Given the description of an element on the screen output the (x, y) to click on. 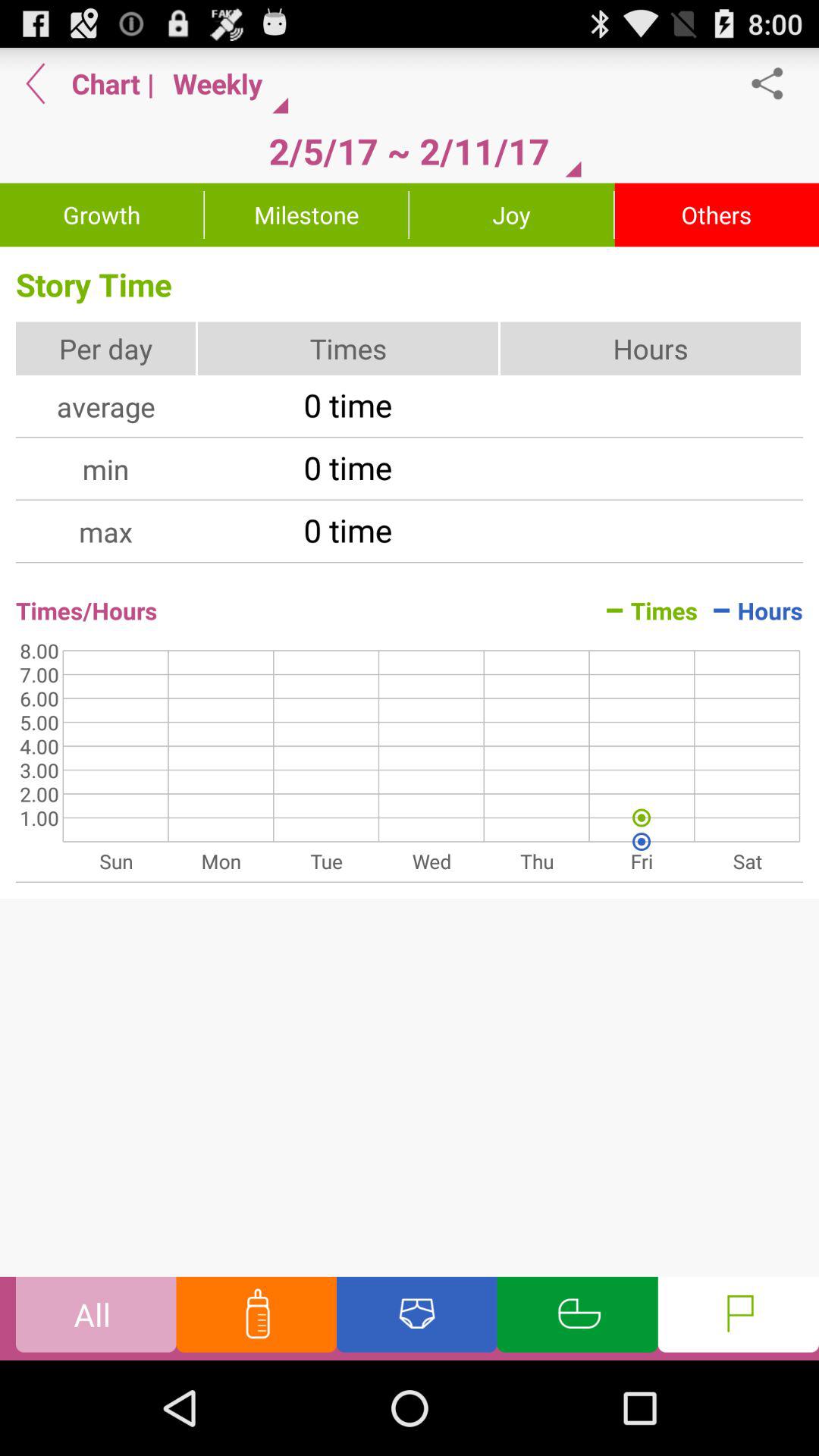
add diaper change (416, 1318)
